Given the description of an element on the screen output the (x, y) to click on. 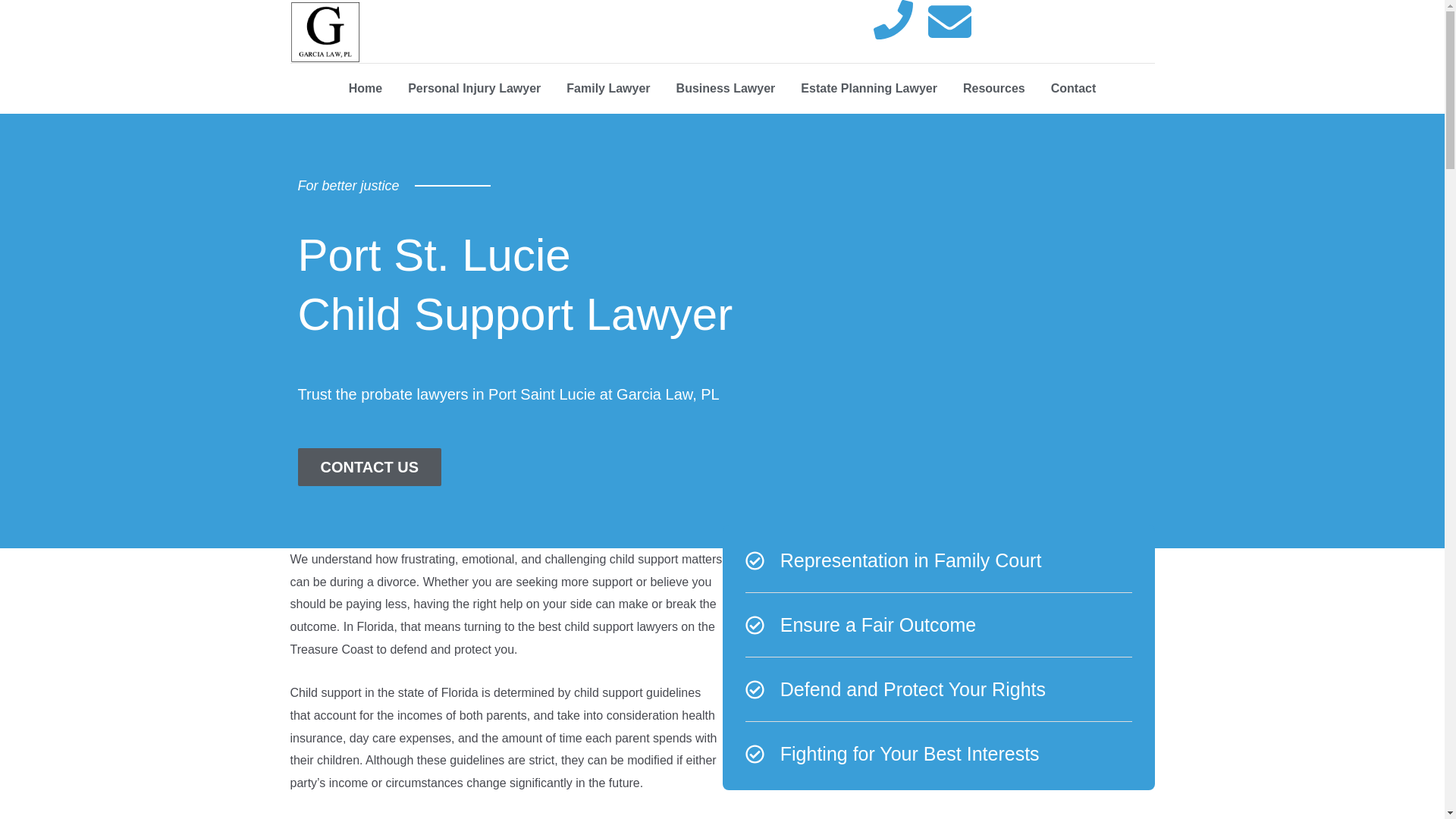
Business Lawyer (726, 88)
Family Lawyer (607, 88)
Resources (994, 88)
Contact (1073, 88)
Estate Planning Lawyer (868, 88)
Personal Injury Lawyer (473, 88)
Home (365, 88)
